Given the description of an element on the screen output the (x, y) to click on. 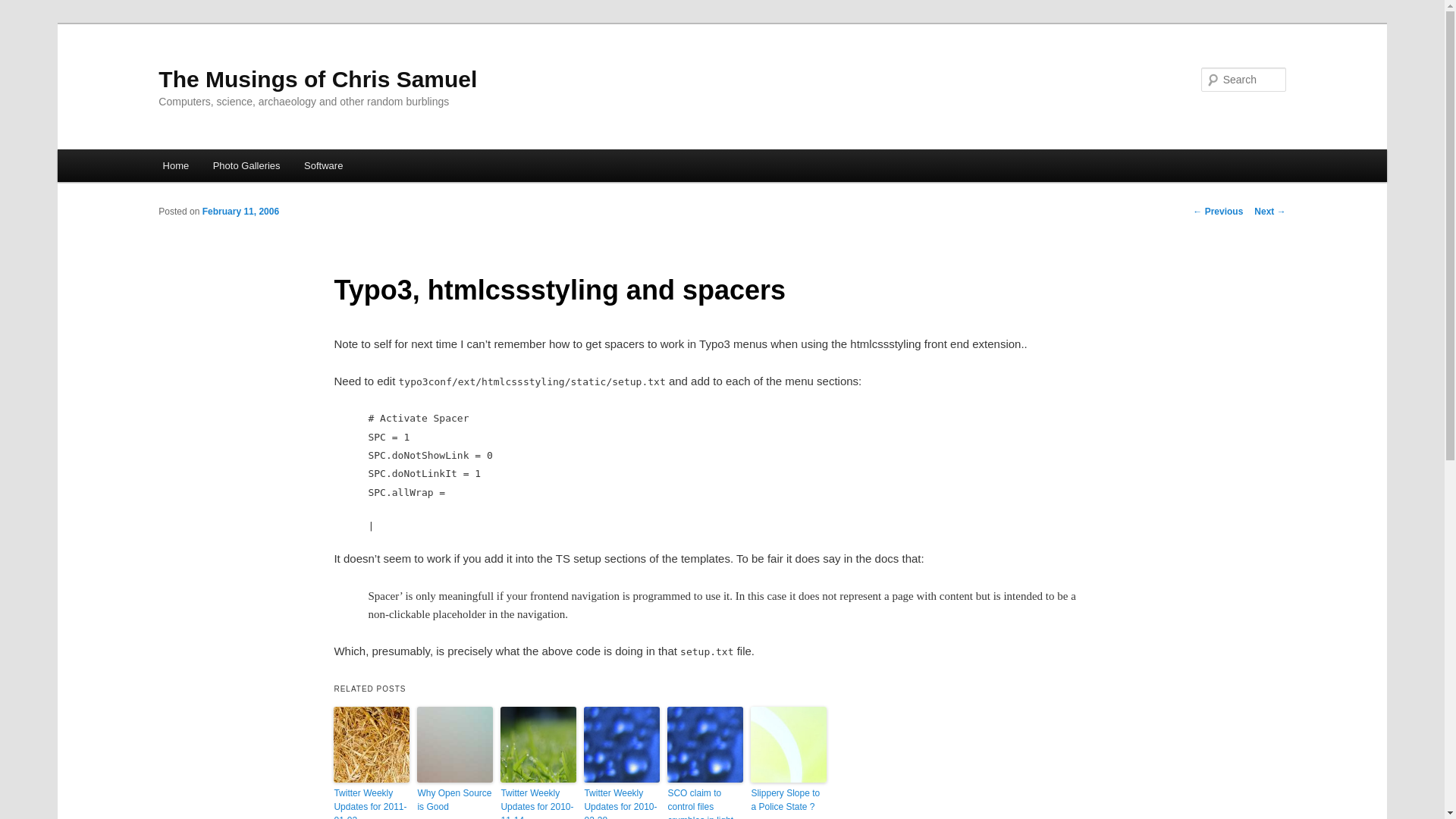
February 11, 2006 (240, 211)
Twitter Weekly Updates for 2010-11-14 (538, 802)
Home (175, 165)
Why Open Source is Good (454, 800)
10:42 pm (240, 211)
Software (323, 165)
Photo Galleries (246, 165)
Slippery Slope to a Police State ? (789, 800)
The Musings of Chris Samuel (317, 78)
Search (24, 8)
Twitter Weekly Updates for 2010-02-28 (621, 802)
Twitter Weekly Updates for 2011-01-02 (371, 802)
